Given the description of an element on the screen output the (x, y) to click on. 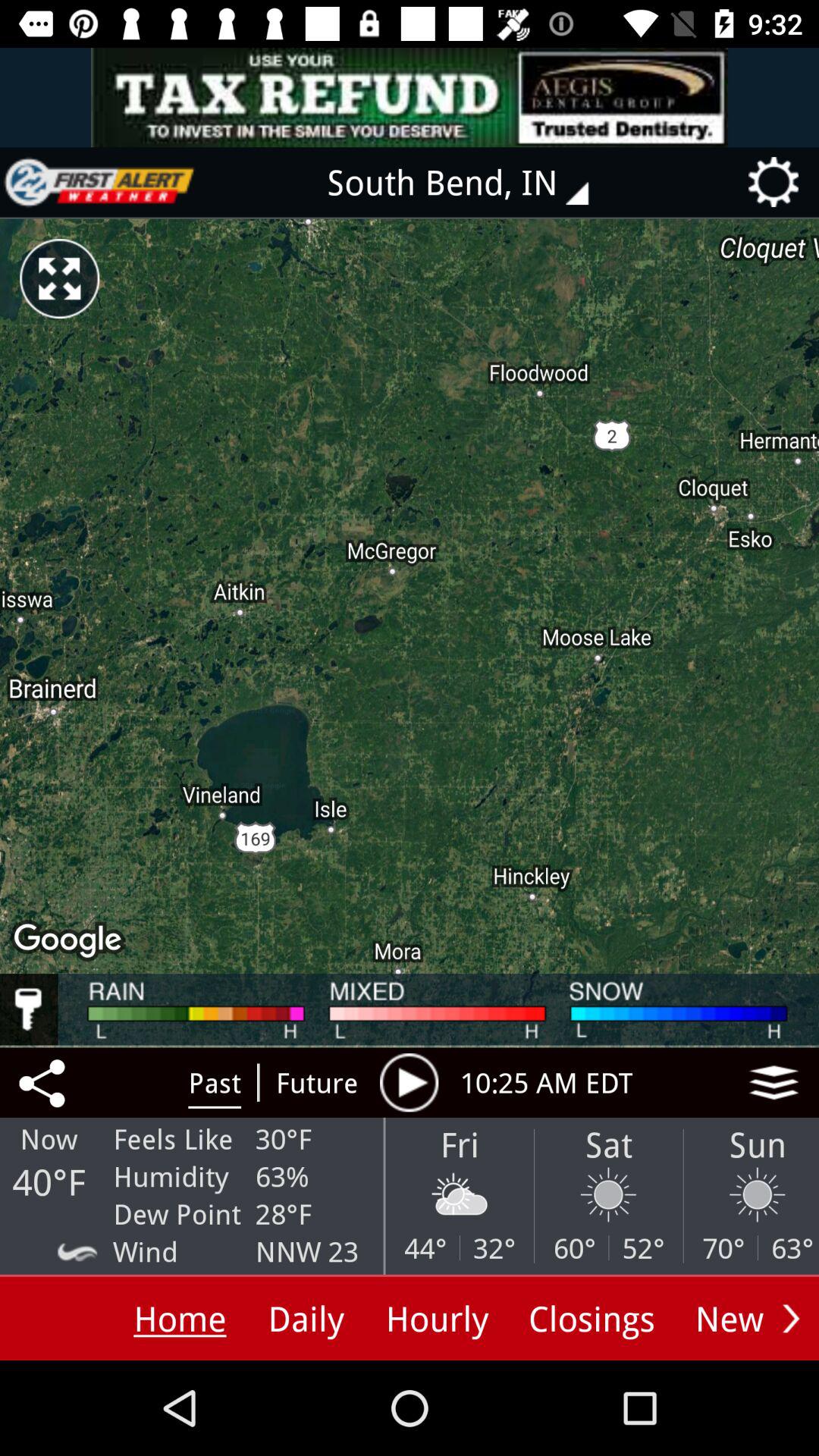
go to advertisement (99, 182)
